Given the description of an element on the screen output the (x, y) to click on. 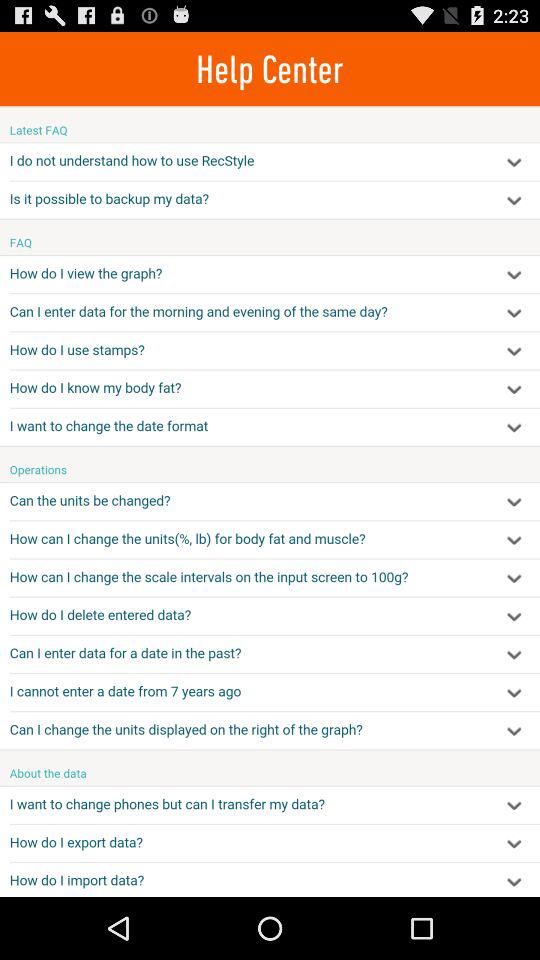
showing help center information (270, 501)
